Given the description of an element on the screen output the (x, y) to click on. 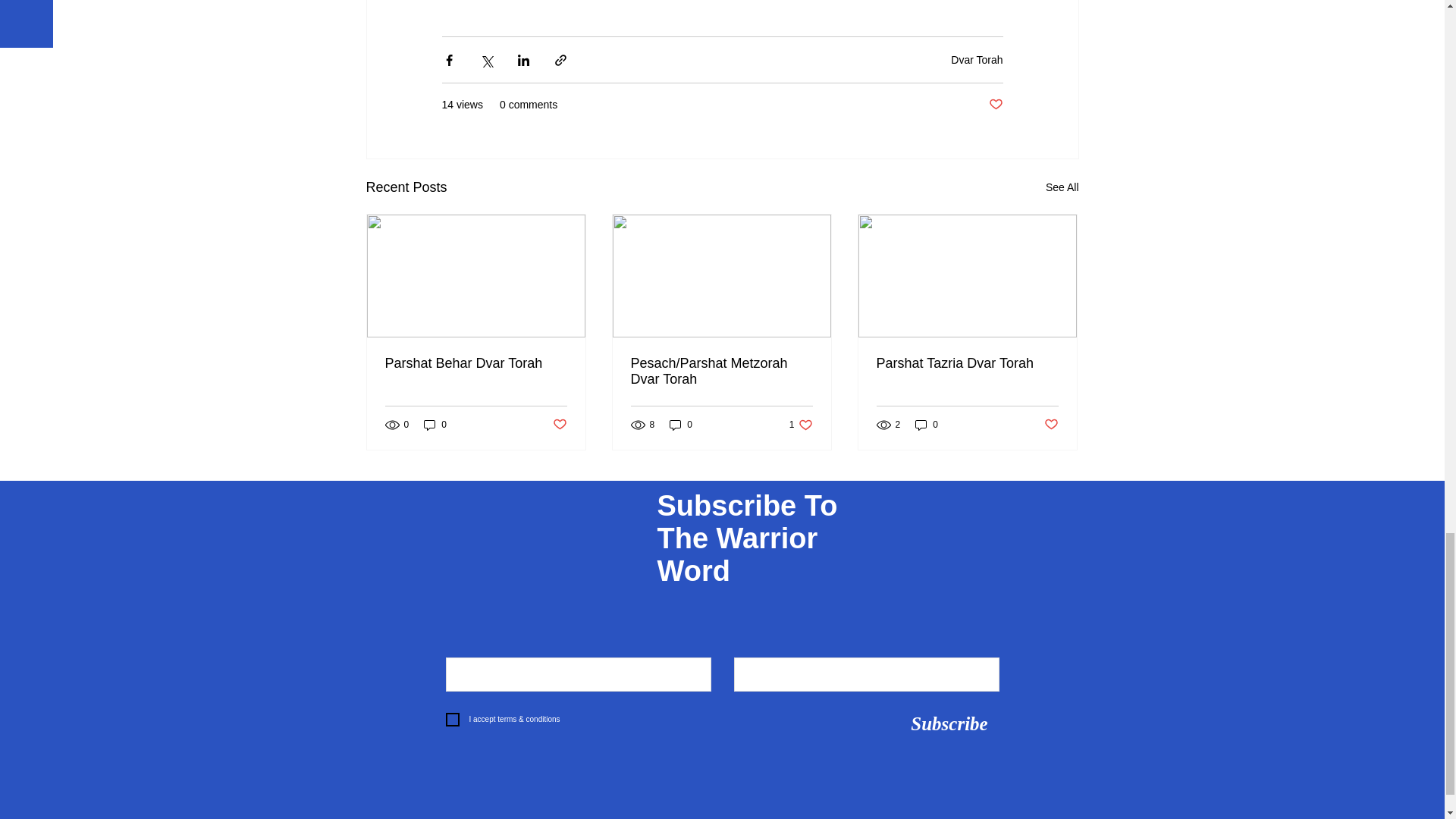
See All (1061, 187)
Post not marked as liked (558, 424)
0 (435, 424)
0 (681, 424)
Dvar Torah (976, 60)
Parshat Behar Dvar Torah (476, 363)
Post not marked as liked (995, 105)
